Given the description of an element on the screen output the (x, y) to click on. 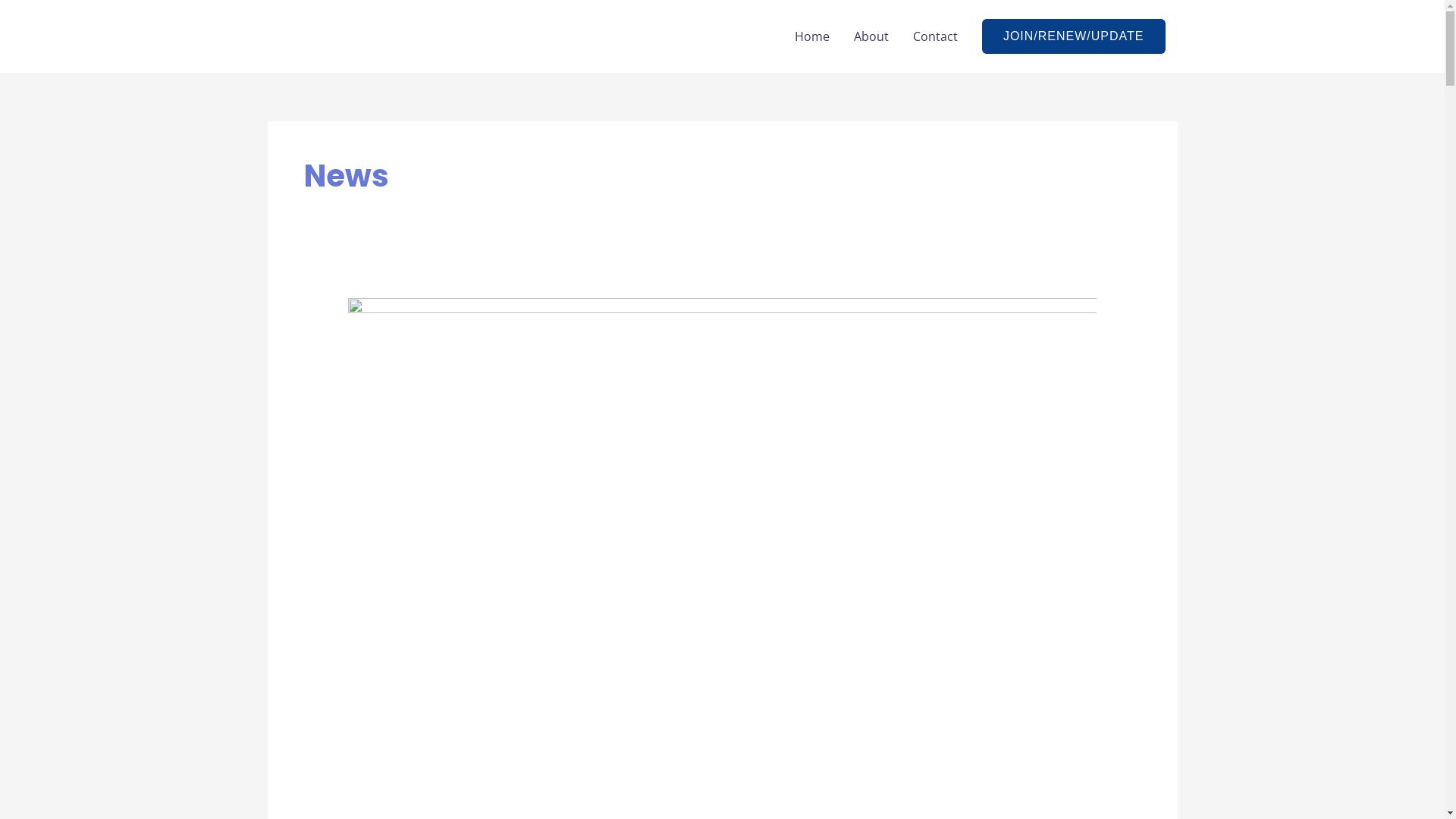
Home Element type: text (811, 36)
About Element type: text (870, 36)
Contact Element type: text (934, 36)
JOIN/RENEW/UPDATE Element type: text (1073, 35)
